Given the description of an element on the screen output the (x, y) to click on. 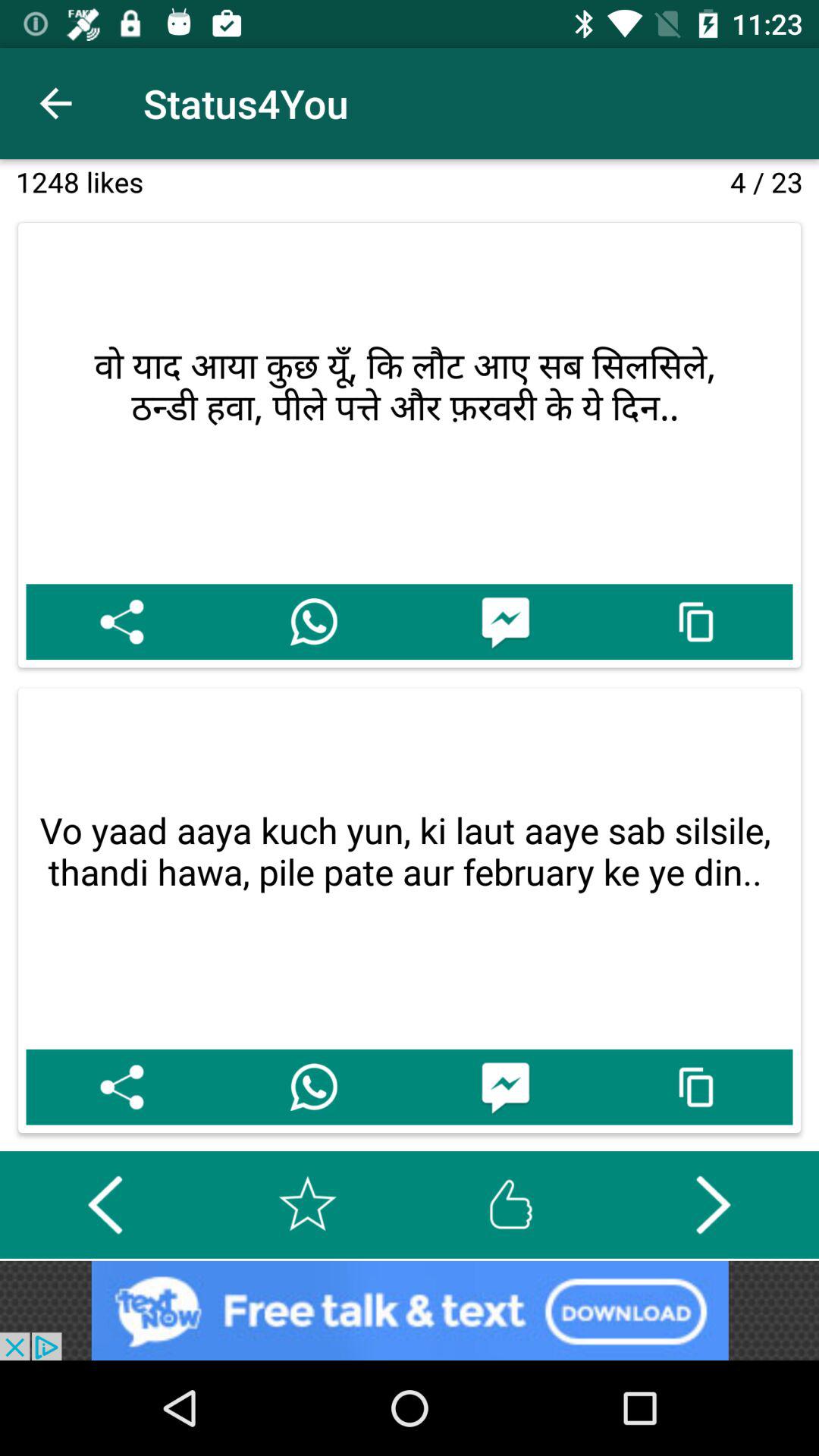
save text to clipboard (696, 1086)
